Given the description of an element on the screen output the (x, y) to click on. 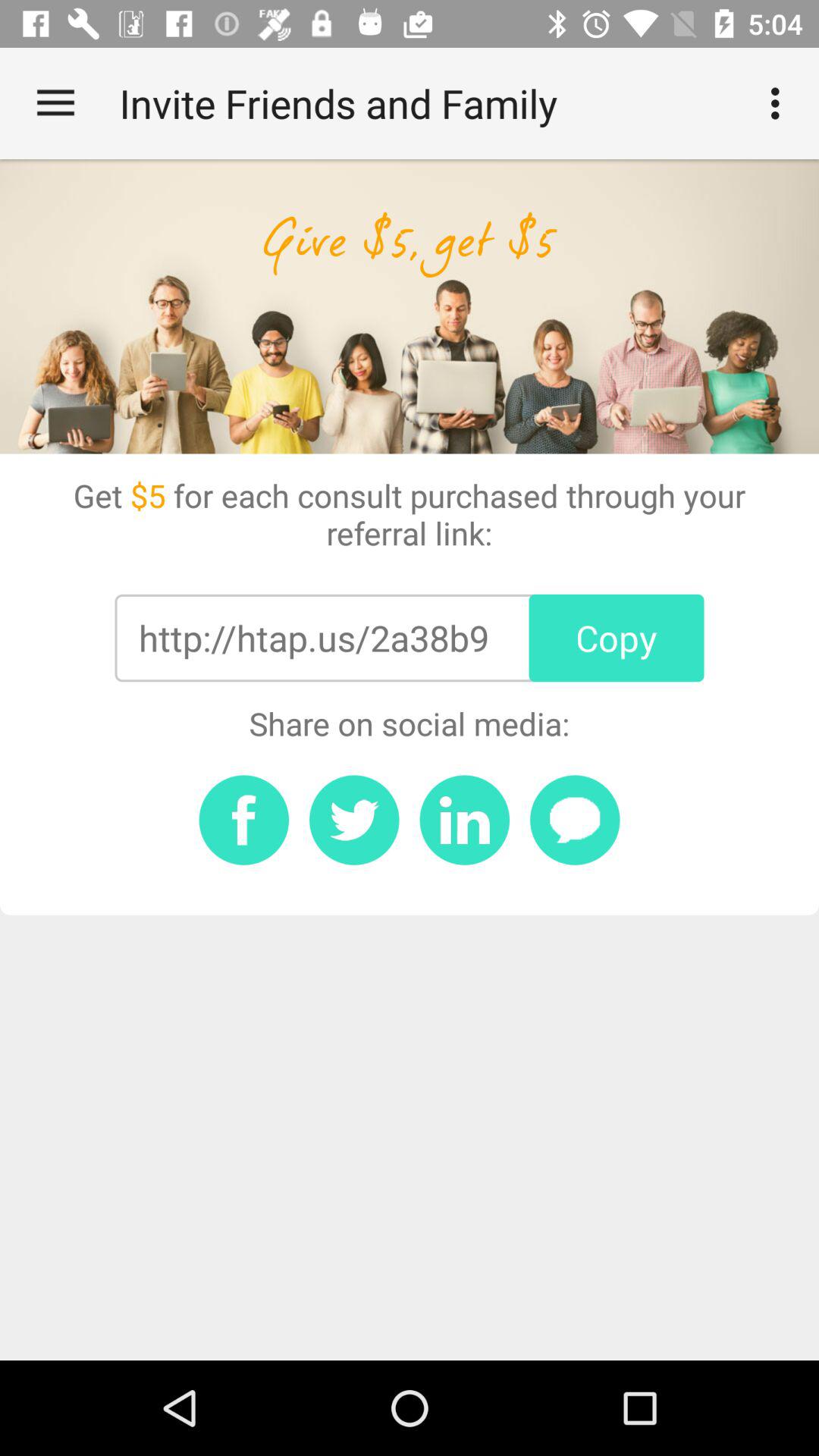
choose icon to the left of copy (313, 637)
